Given the description of an element on the screen output the (x, y) to click on. 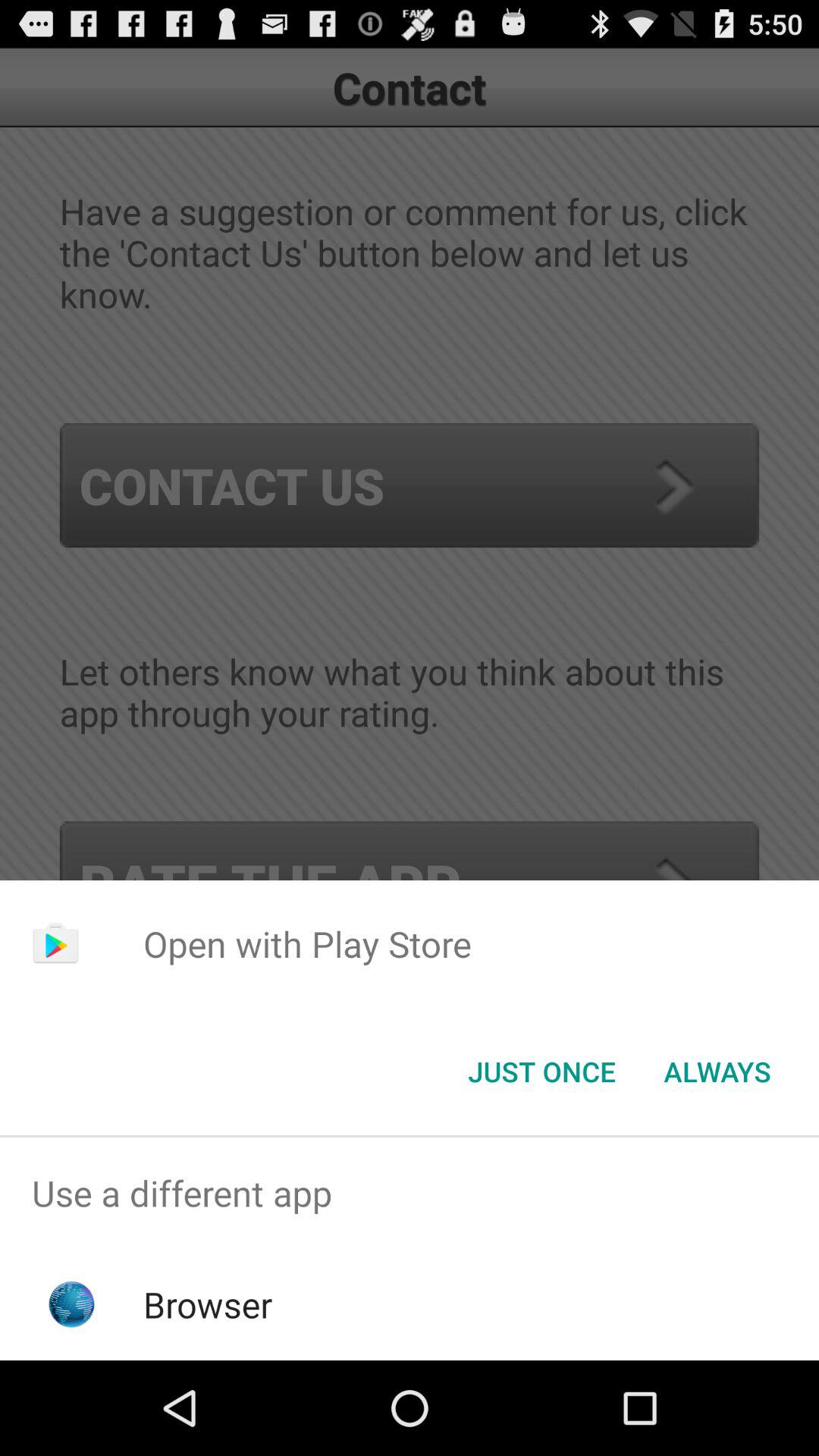
press the button next to always icon (541, 1071)
